Given the description of an element on the screen output the (x, y) to click on. 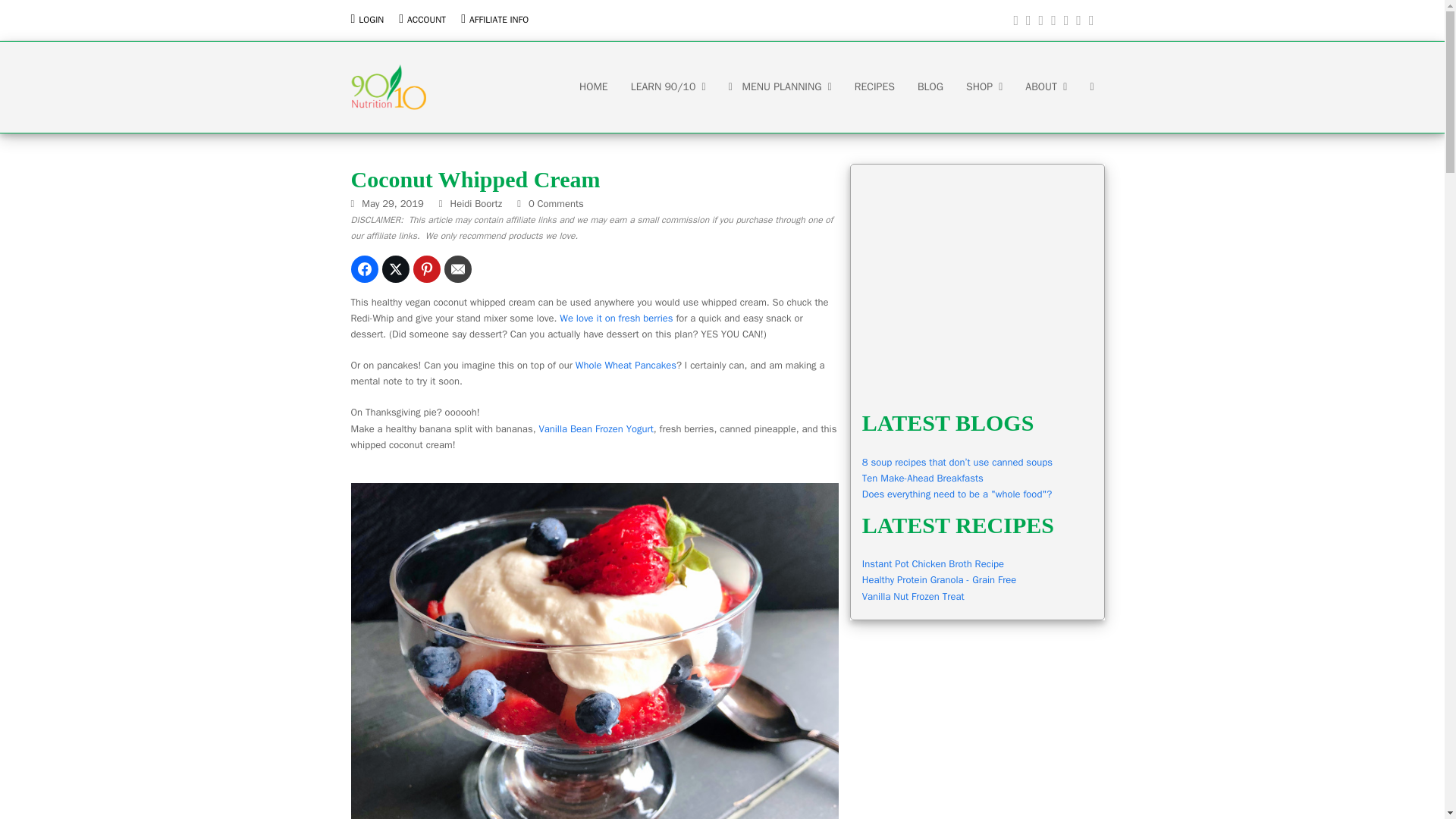
ACCOUNT (426, 19)
LOGIN (371, 19)
Share on Twitter (395, 268)
ABOUT (1045, 86)
0 Comments (549, 203)
BLOG (930, 86)
RECIPES (874, 86)
SHOP (984, 86)
HOME (593, 86)
Share on Email (457, 268)
AFFILIATE INFO (498, 19)
MENU PLANNING (780, 86)
Share on Facebook (363, 268)
Share on Pinterest (425, 268)
